Given the description of an element on the screen output the (x, y) to click on. 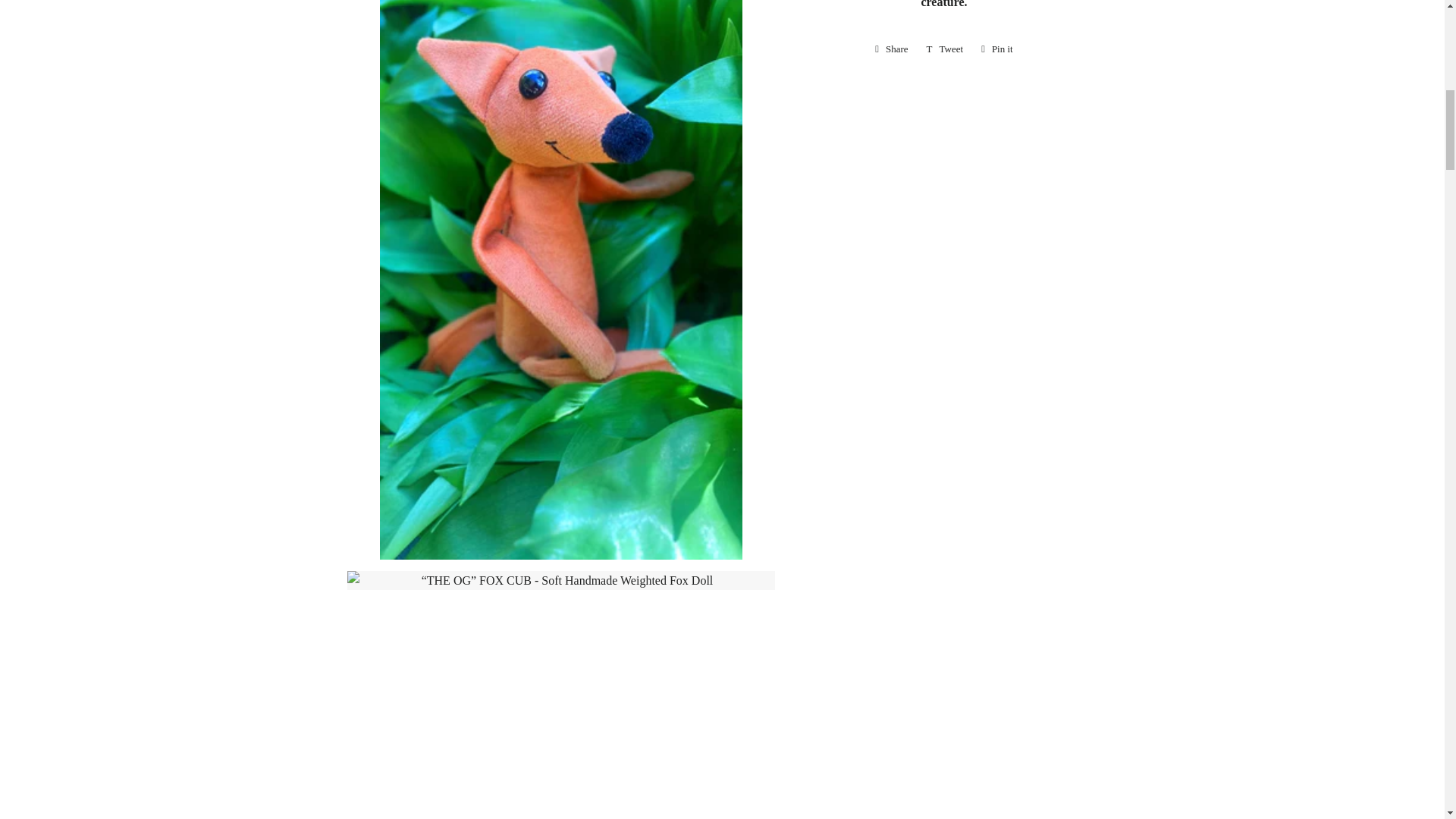
Tweet on Twitter (944, 48)
Pin on Pinterest (997, 48)
Share on Facebook (891, 48)
